Given the description of an element on the screen output the (x, y) to click on. 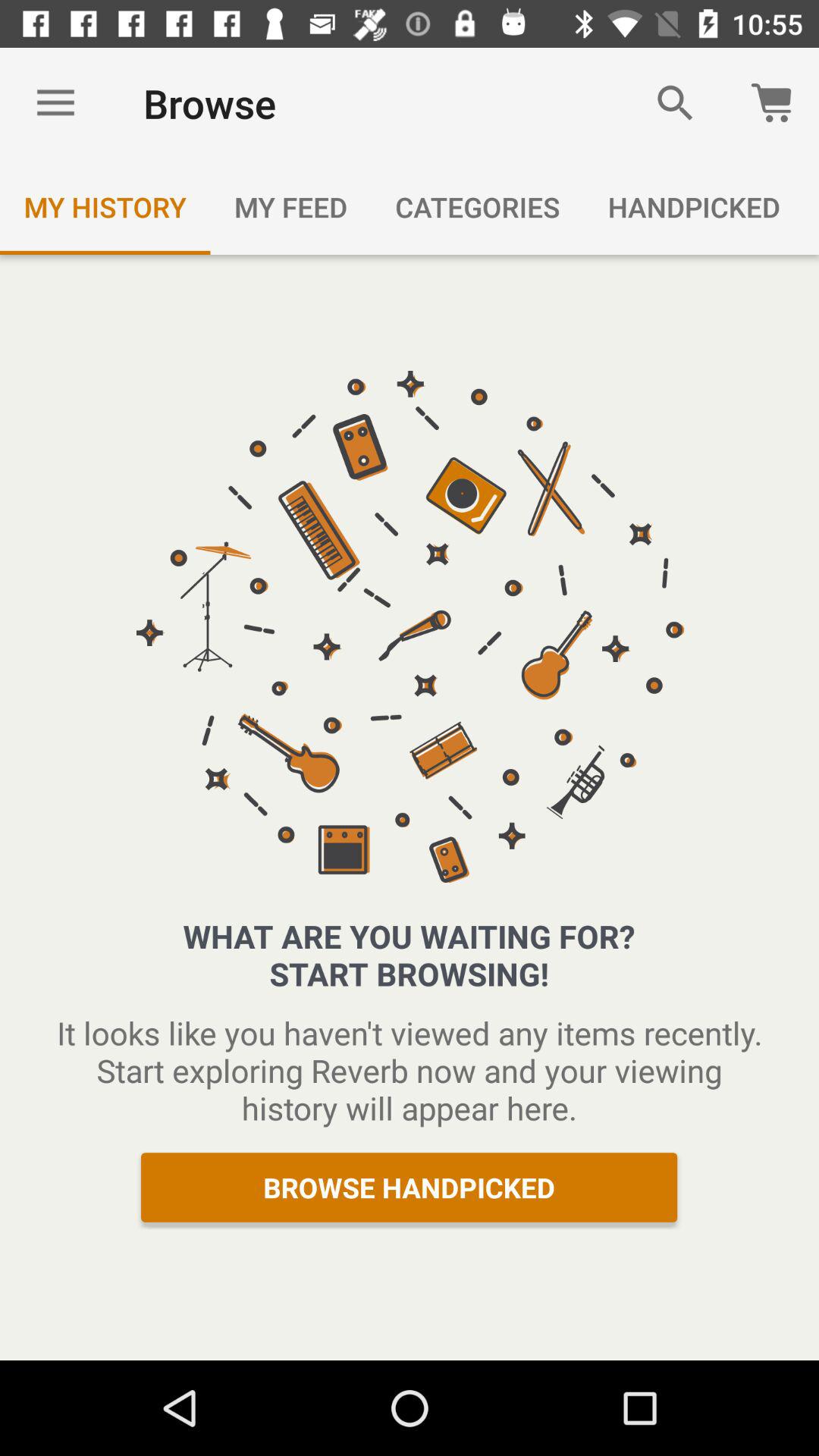
tap item above handpicked (675, 103)
